Given the description of an element on the screen output the (x, y) to click on. 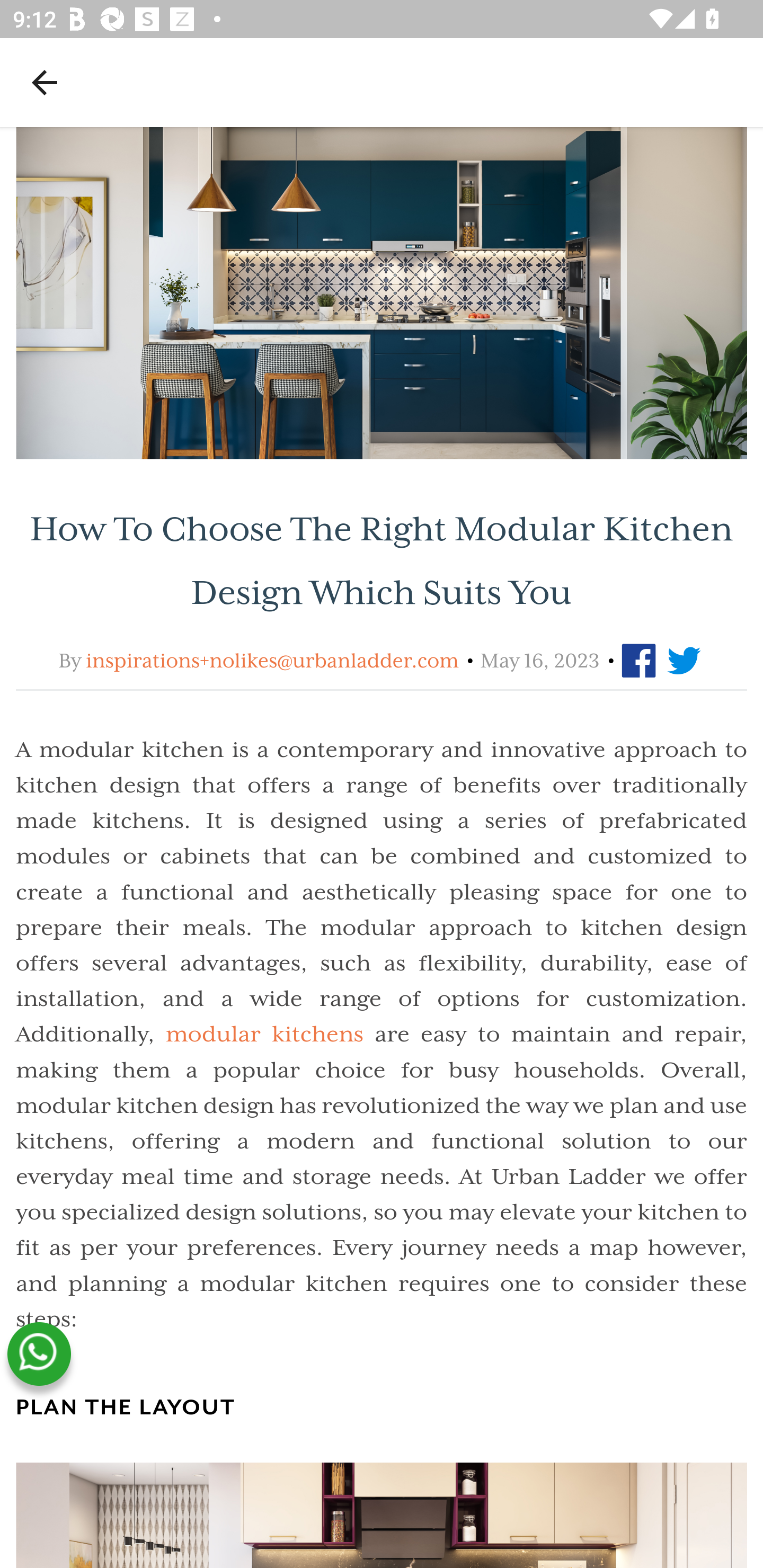
Navigate up (44, 82)
 (641, 661)
 (684, 661)
inspirations+nolikes@urbanladder.com (271, 660)
modular kitchens (264, 1033)
whatsapp (38, 1353)
